Given the description of an element on the screen output the (x, y) to click on. 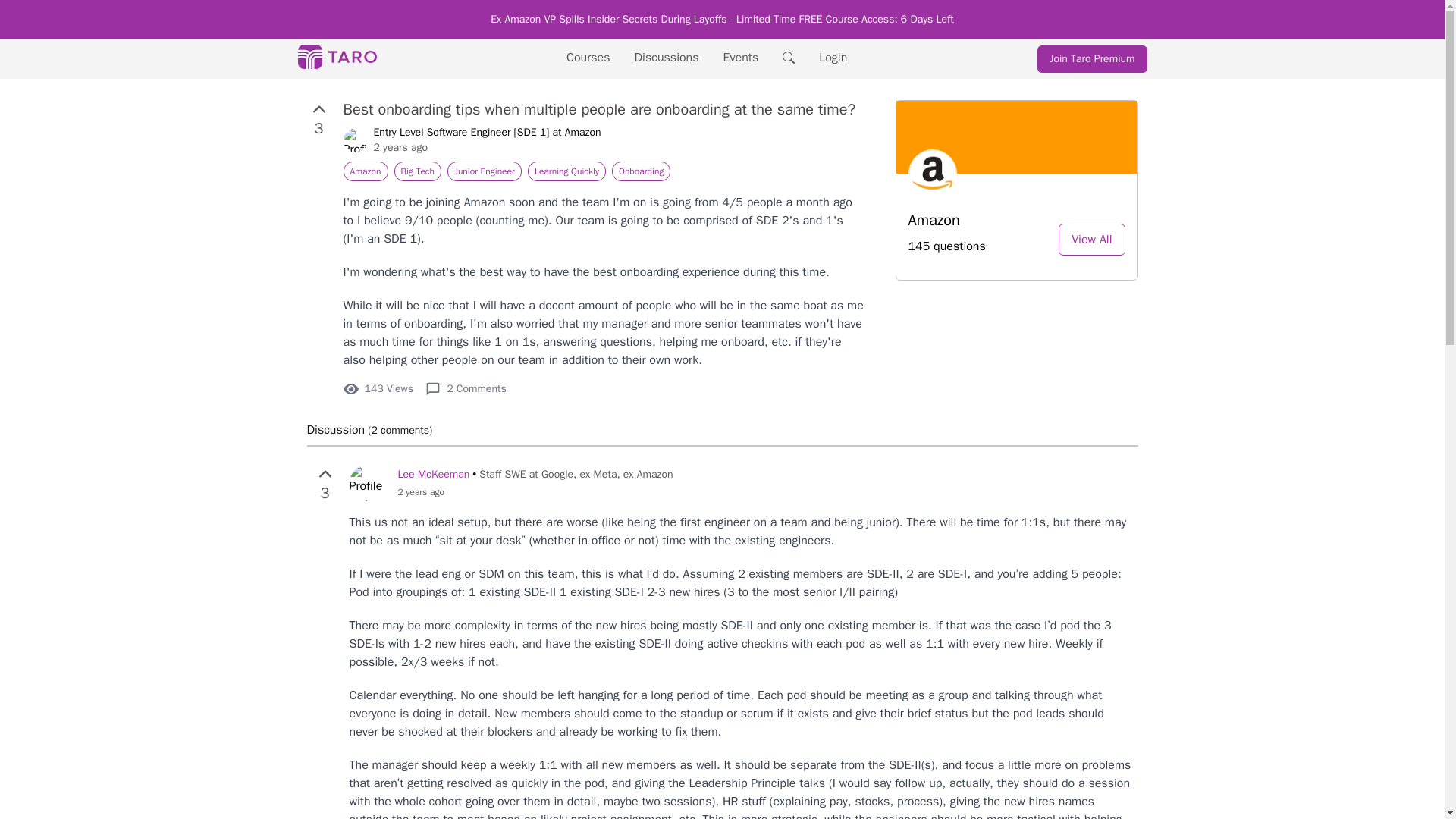
Courses (588, 57)
Join Taro Premium (1091, 58)
Lee McKeeman (432, 473)
Events (740, 57)
View All (1091, 239)
Discussions (666, 57)
Big Tech (418, 170)
Amazon (364, 170)
View All (1091, 239)
Tuesday October 4, 11:41pm (485, 147)
Onboarding (640, 170)
Learning Quickly (566, 170)
Wednesday October 5, 2:27am (534, 491)
Junior Engineer (483, 170)
